Given the description of an element on the screen output the (x, y) to click on. 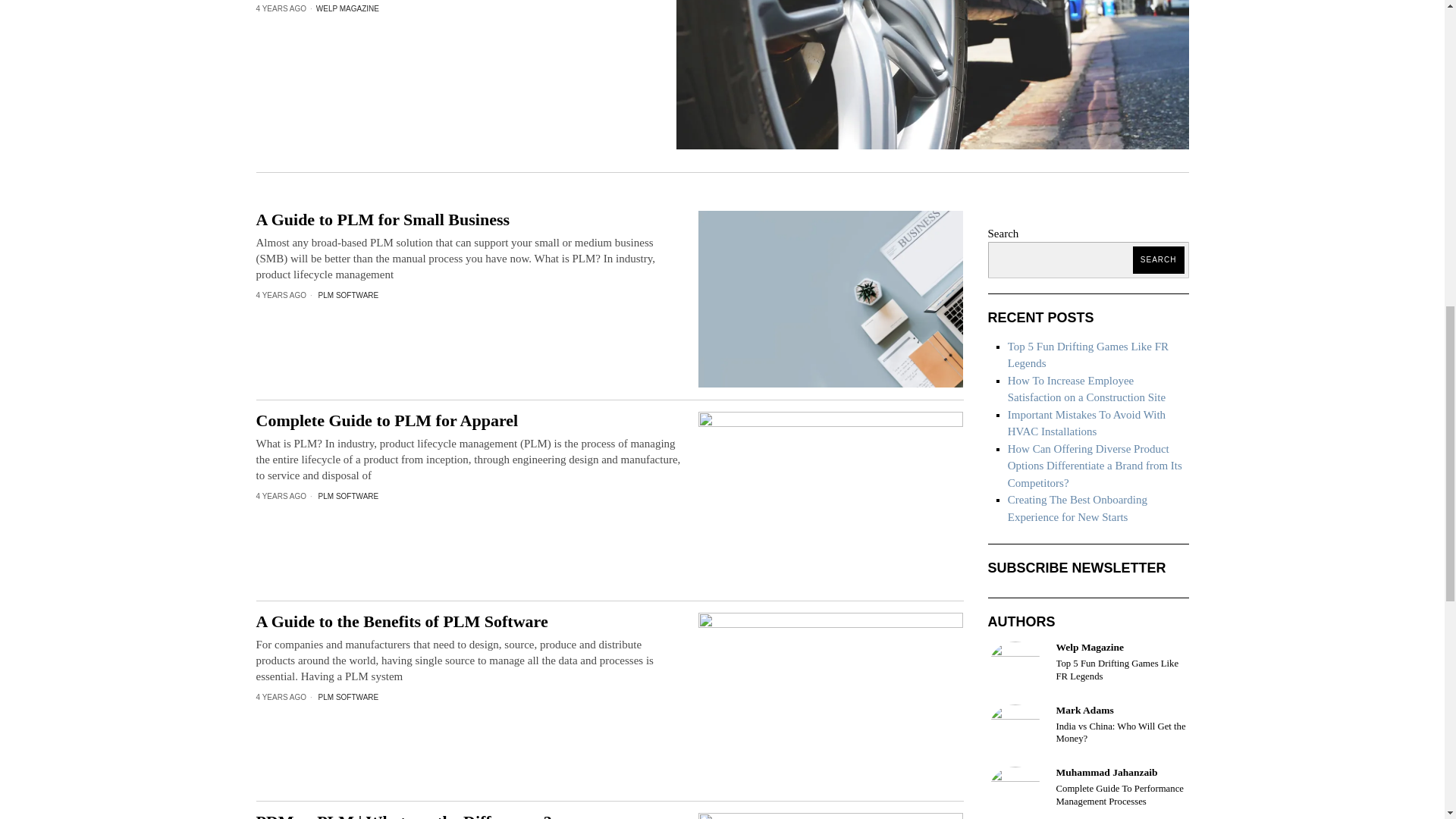
03 Sep, 2020 17:18:33 (281, 9)
03 Sep, 2020 16:06:41 (281, 697)
03 Sep, 2020 16:06:50 (281, 496)
Complete Guide to PLM for Apparel (468, 420)
03 Sep, 2020 17:17:48 (281, 295)
Welp Magazine (1014, 668)
PLM SOFTWARE (348, 295)
WELP MAGAZINE (346, 9)
Muhammad Jahanzaib (1014, 792)
A Guide to PLM for Small Business (468, 219)
